Given the description of an element on the screen output the (x, y) to click on. 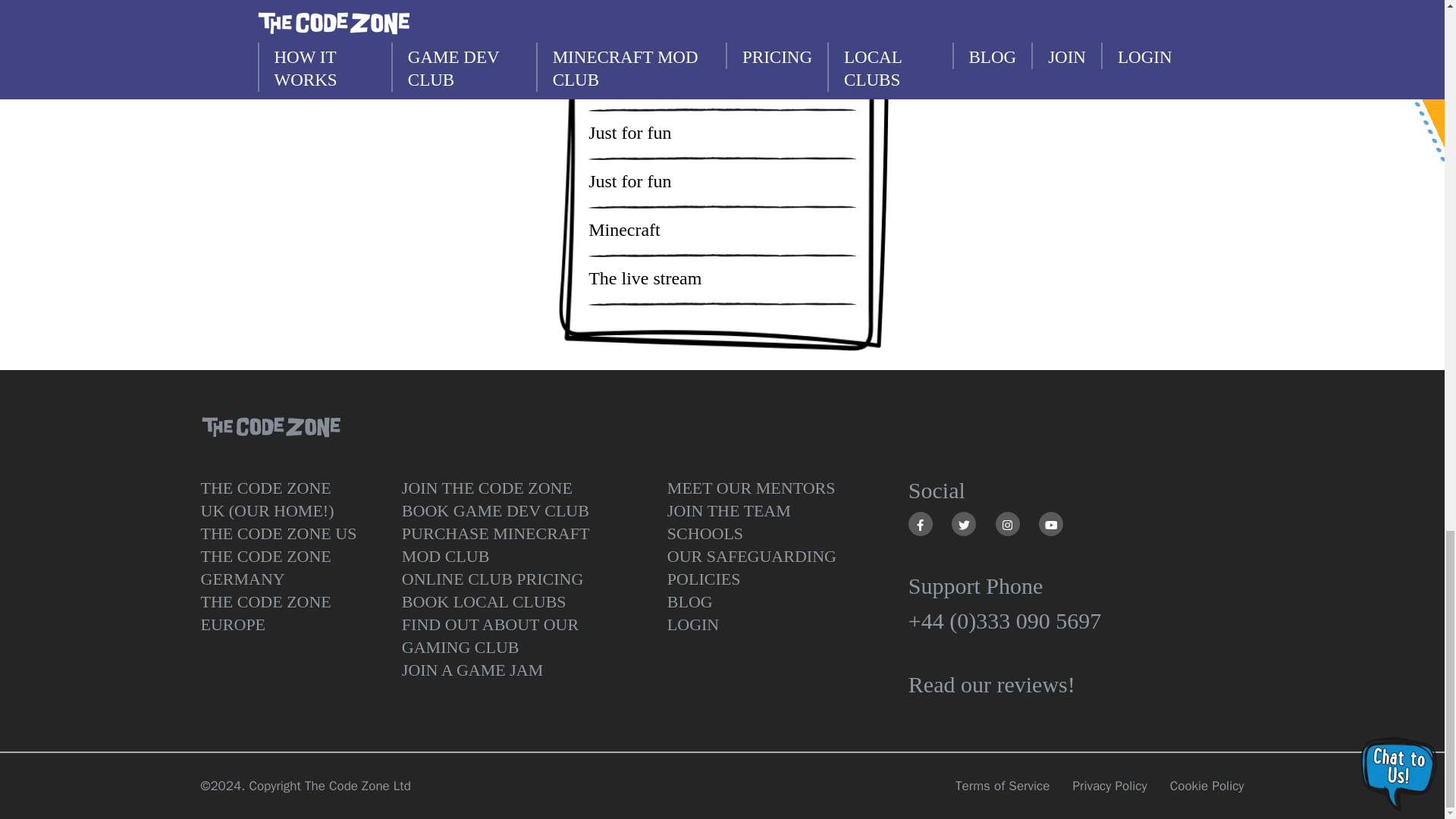
Just for fun blog articles (629, 132)
Just for fun (629, 181)
THE CODE ZONE US (279, 533)
Join Minecraft Mod Club and learn to code! (512, 545)
BOOK GAME DEV CLUB (512, 510)
In the press blog articles (630, 84)
Game jam  blog articles (625, 35)
Find a local club near you (512, 601)
Chill and play in our gaming club (512, 636)
Pricing for all of our online clubs! (512, 579)
